Given the description of an element on the screen output the (x, y) to click on. 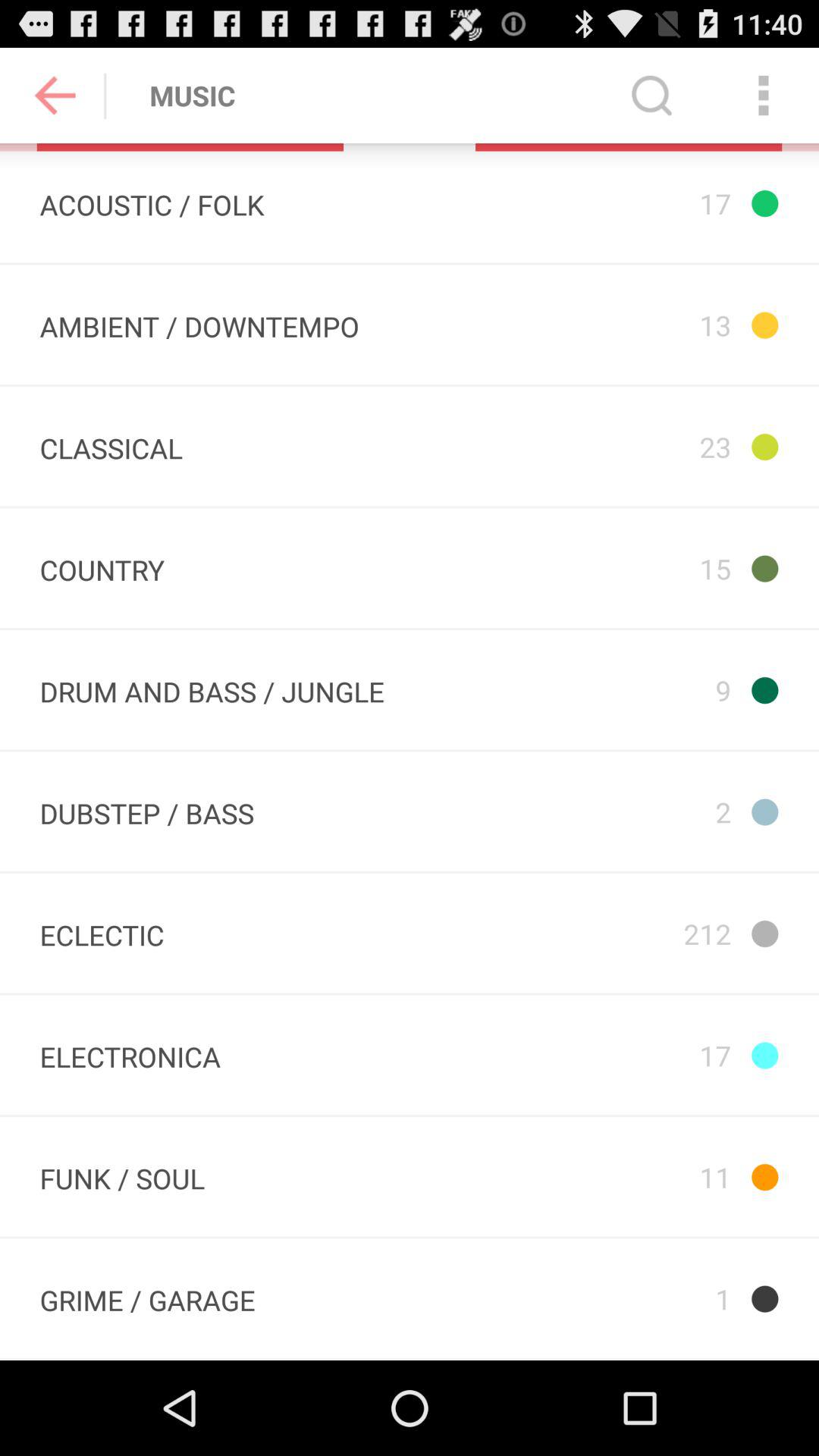
tap the item to the right of the ambient / downtempo (616, 446)
